Given the description of an element on the screen output the (x, y) to click on. 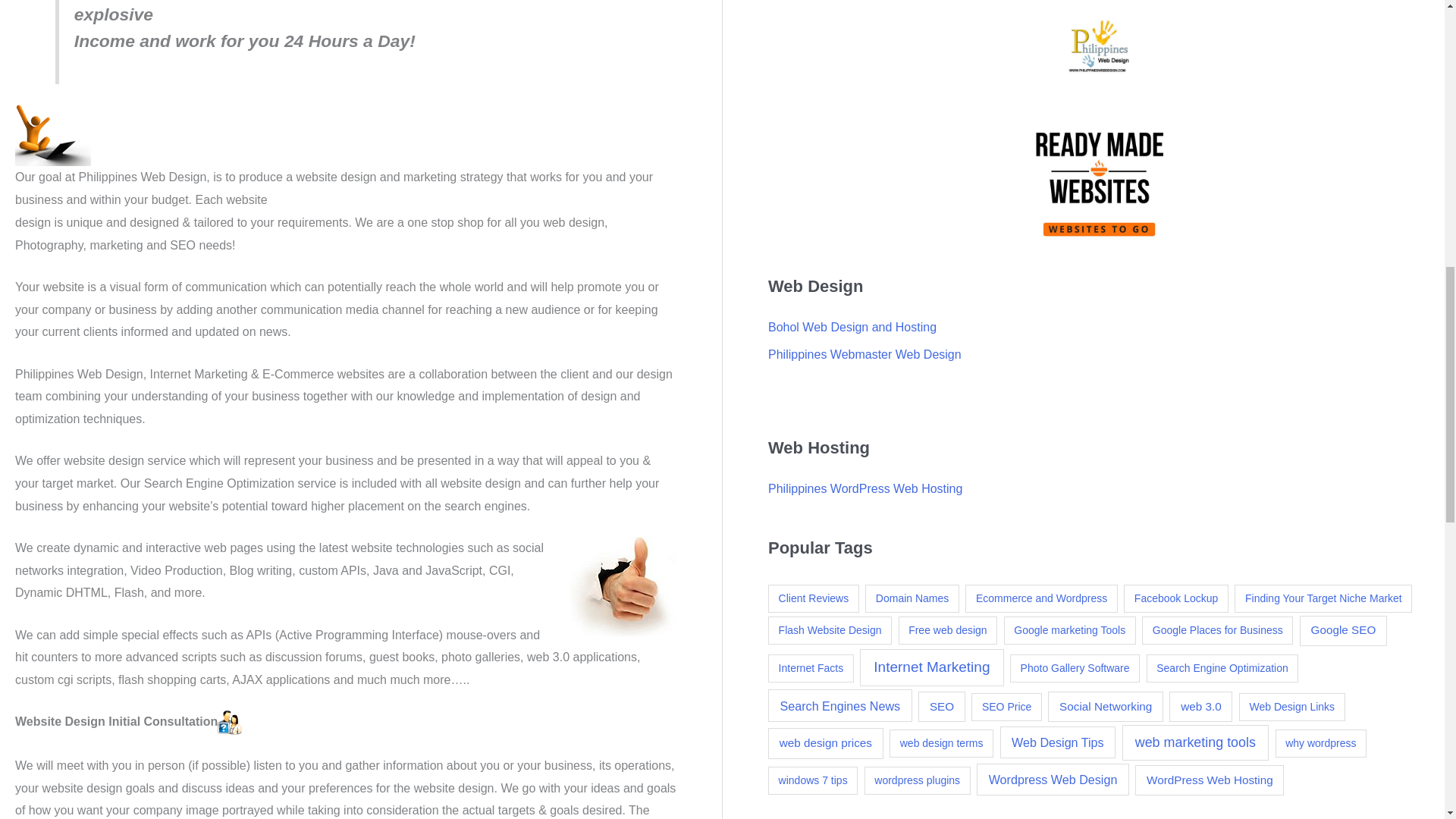
web design in Philippines (623, 586)
Established Domains and Websites for sale! (1098, 183)
Philippines Webmaster (864, 354)
Philippines WordPress Web Hosting with FREE Support! (865, 488)
